Given the description of an element on the screen output the (x, y) to click on. 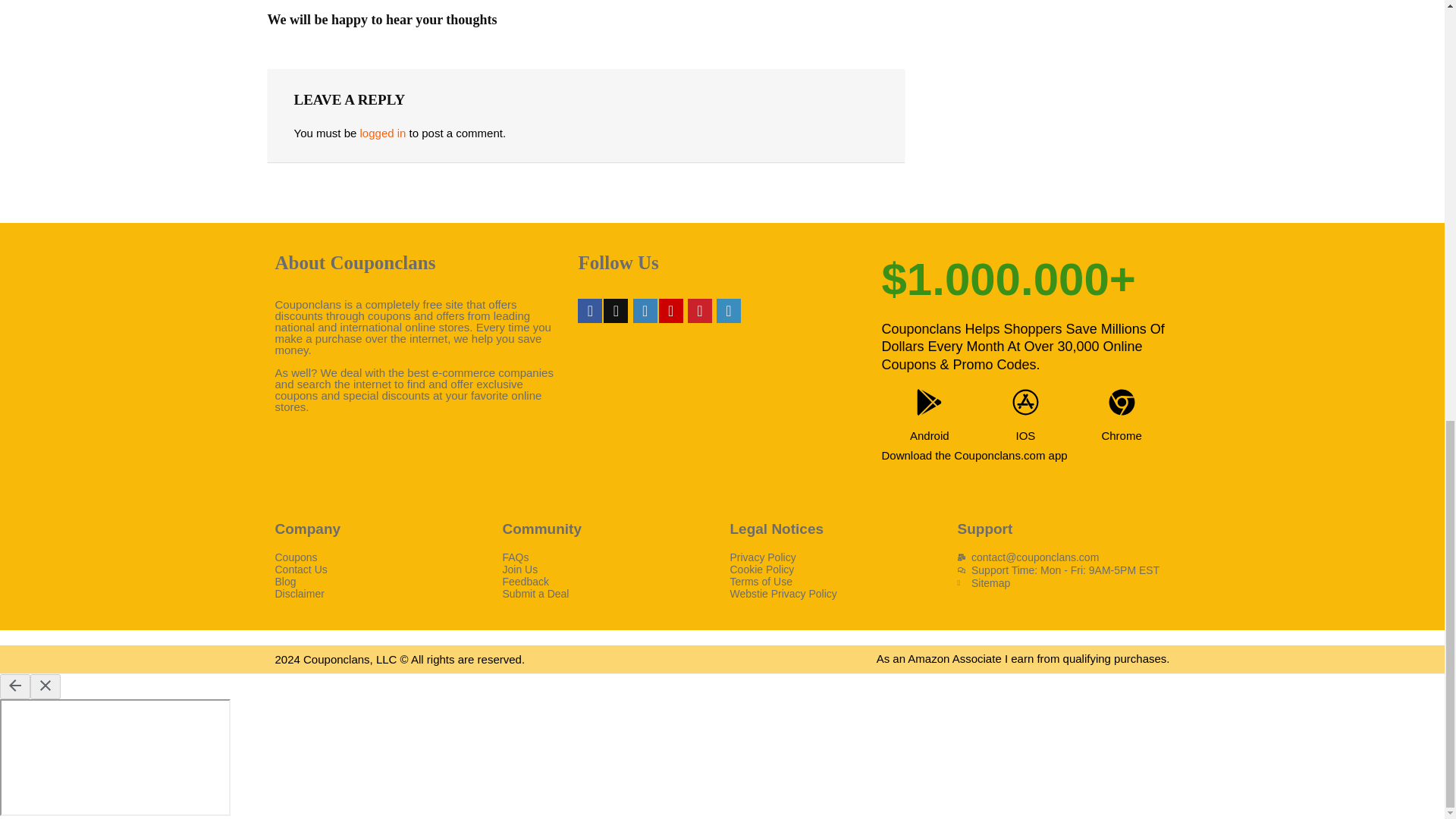
Facebook (590, 310)
Join Us (608, 569)
Disclaimer (380, 593)
Chrome (1120, 435)
Contact Us (380, 569)
FAQs (608, 557)
Instagramm (645, 310)
Pinterest (699, 310)
logged in (382, 132)
Blog (380, 581)
